Given the description of an element on the screen output the (x, y) to click on. 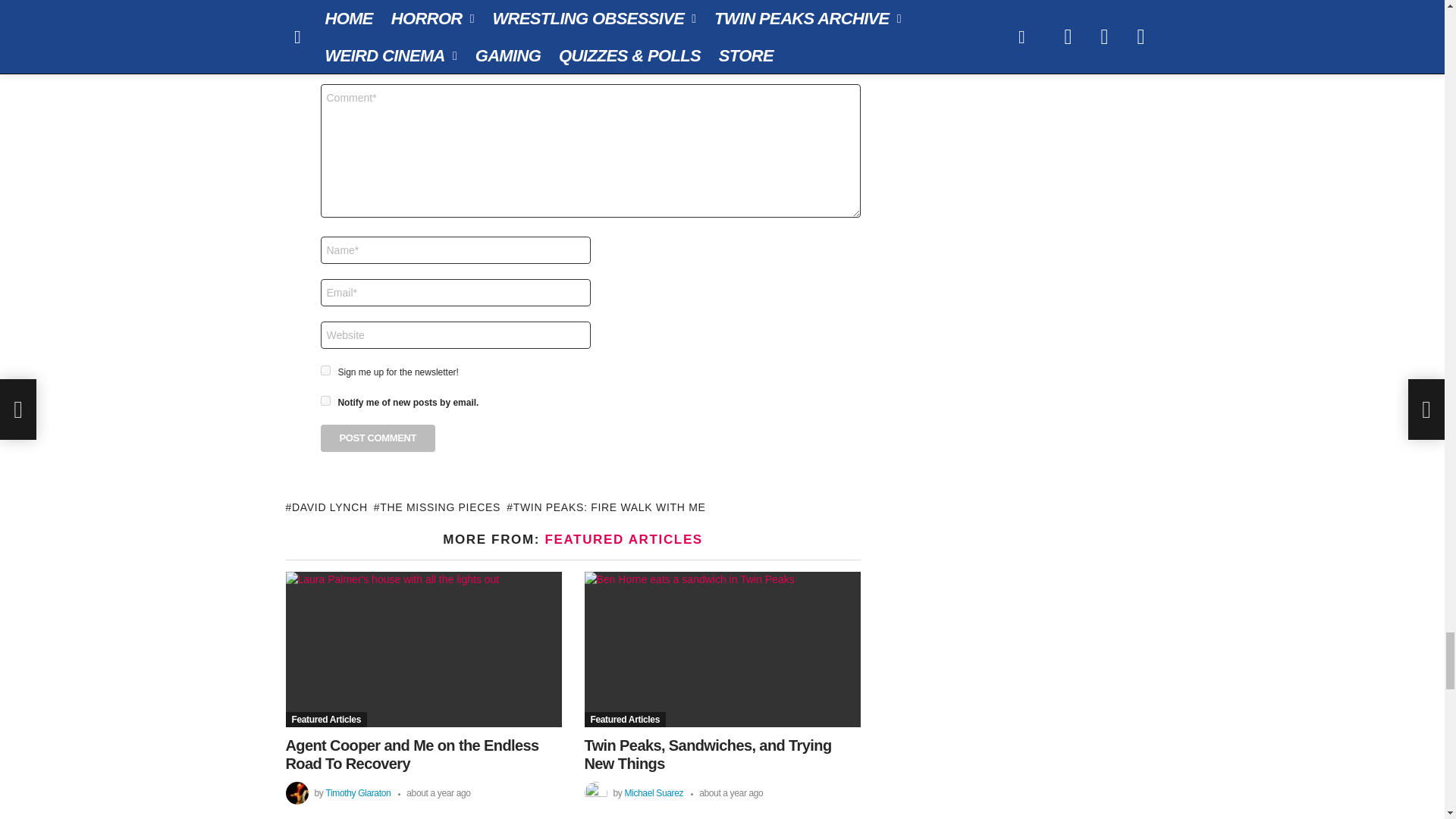
1 (325, 370)
Twin Peaks, Sandwiches, and Trying New Things (721, 649)
subscribe (325, 400)
February 21, 2023, 7:55 pm (433, 793)
Posts by Michael Suarez (653, 792)
Agent Cooper and Me on the Endless Road To Recovery (422, 649)
Posts by Timothy Glaraton (357, 792)
February 7, 2023, 9:38 pm (726, 793)
Post Comment (377, 438)
